Given the description of an element on the screen output the (x, y) to click on. 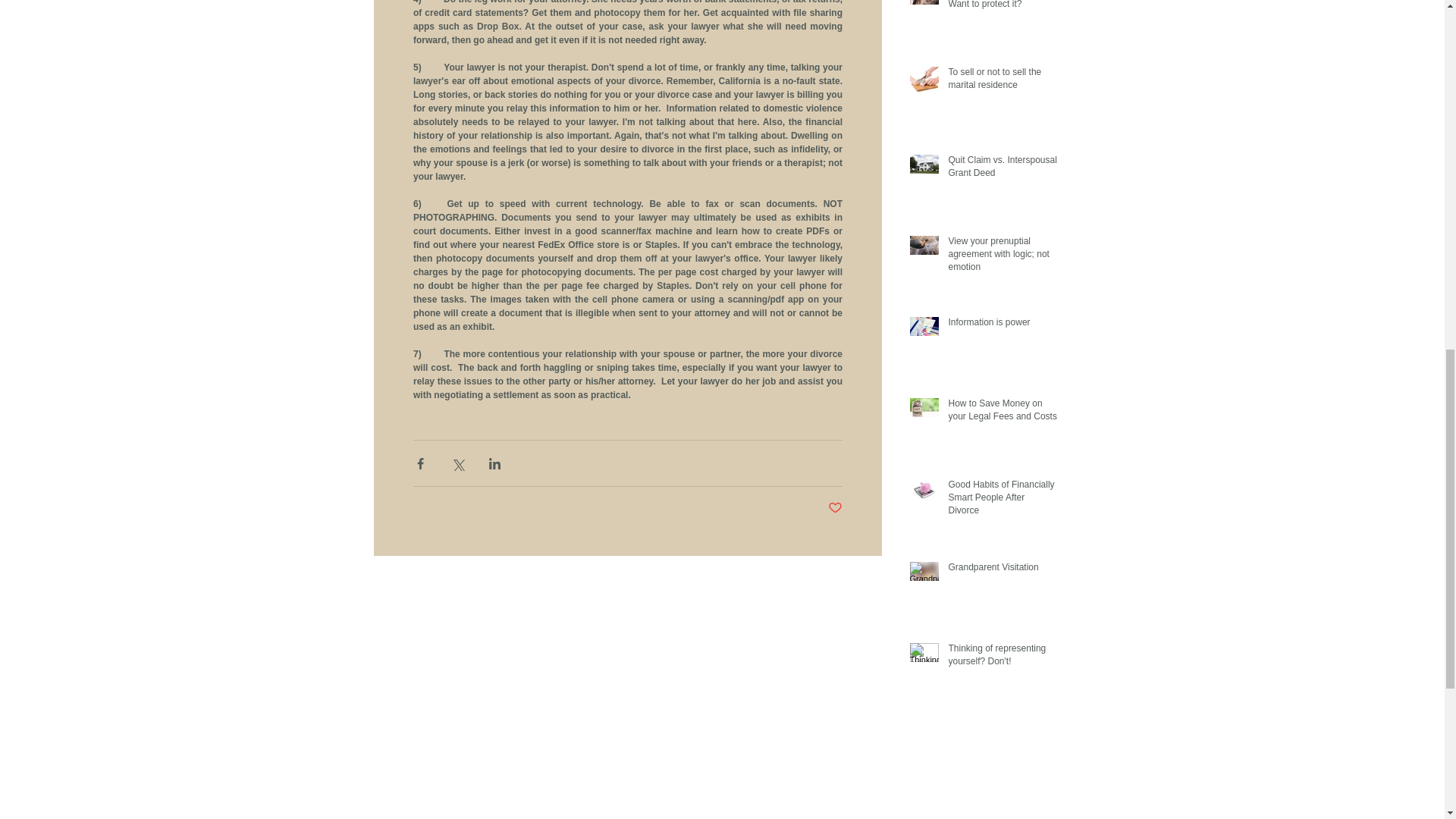
Post not marked as liked (835, 508)
Do you own a business? Want to protect it? (1002, 8)
To sell or not to sell the marital residence (1002, 81)
Quit Claim vs. Interspousal Grant Deed (1002, 169)
